Given the description of an element on the screen output the (x, y) to click on. 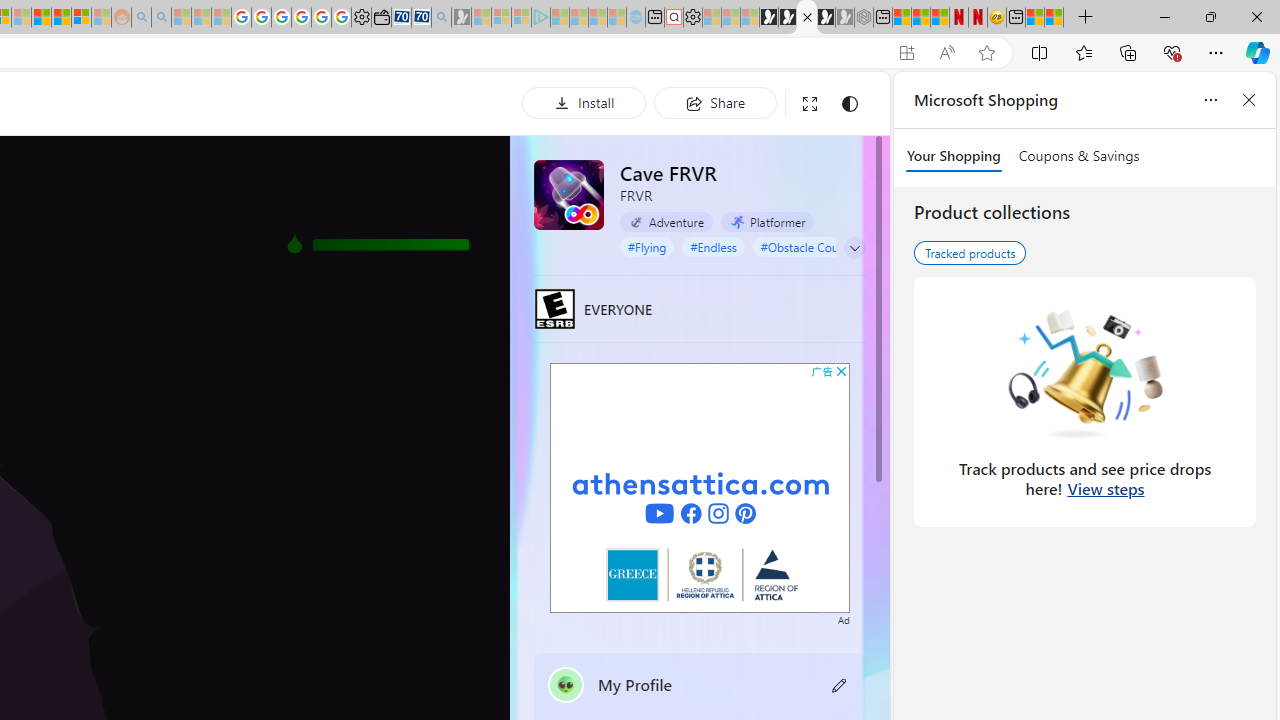
Expert Portfolios (41, 17)
Play Cave FRVR in your browser | Games from Microsoft Start (806, 17)
Ad (843, 618)
Home | Sky Blue Bikes - Sky Blue Bikes - Sleeping (636, 17)
